Given the description of an element on the screen output the (x, y) to click on. 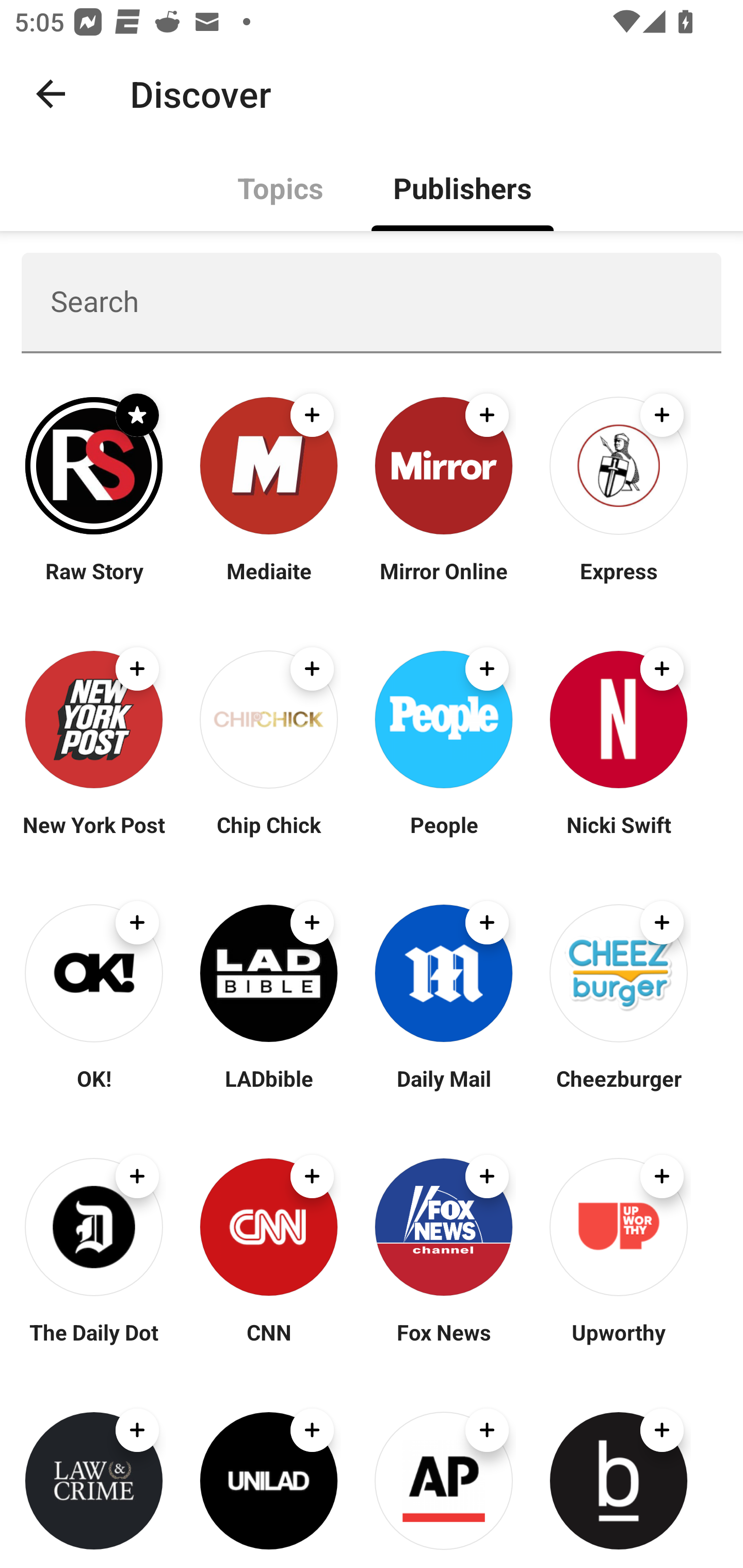
Topics (280, 187)
Search (371, 302)
Raw Story (93, 582)
Mediaite (268, 582)
Mirror Online (443, 582)
Express (618, 582)
New York Post (93, 836)
Chip Chick (268, 836)
People (443, 836)
Nicki Swift (618, 836)
OK! (93, 1090)
LADbible (268, 1090)
Daily Mail (443, 1090)
Cheezburger (618, 1090)
The Daily Dot (93, 1344)
CNN (268, 1344)
Fox News (443, 1344)
